Given the description of an element on the screen output the (x, y) to click on. 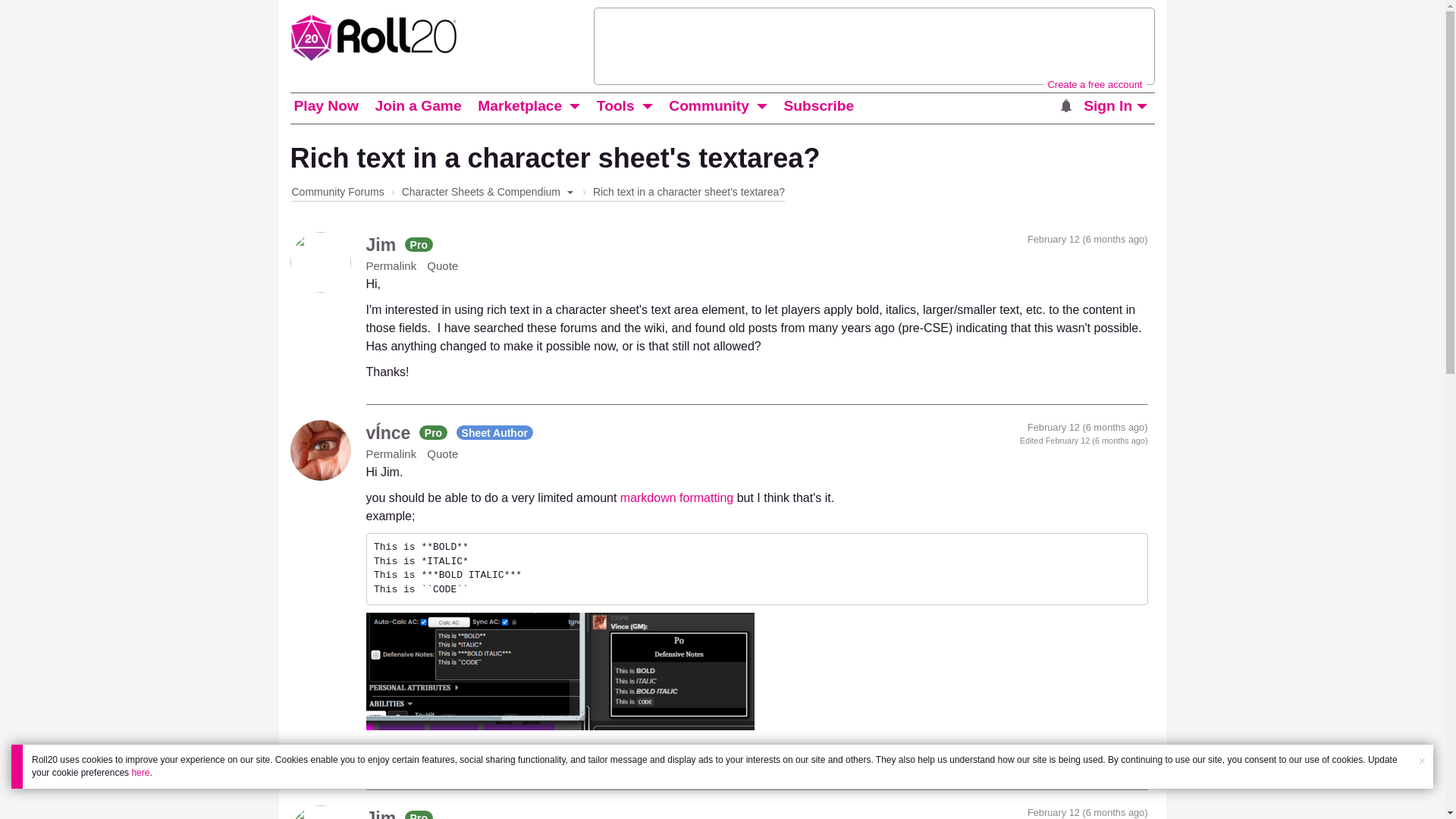
Marketplace (520, 106)
Join a Game (417, 106)
3rd party ad content (873, 46)
Create a free account (1093, 84)
Tools (615, 106)
here (140, 772)
Play Now (325, 106)
